Given the description of an element on the screen output the (x, y) to click on. 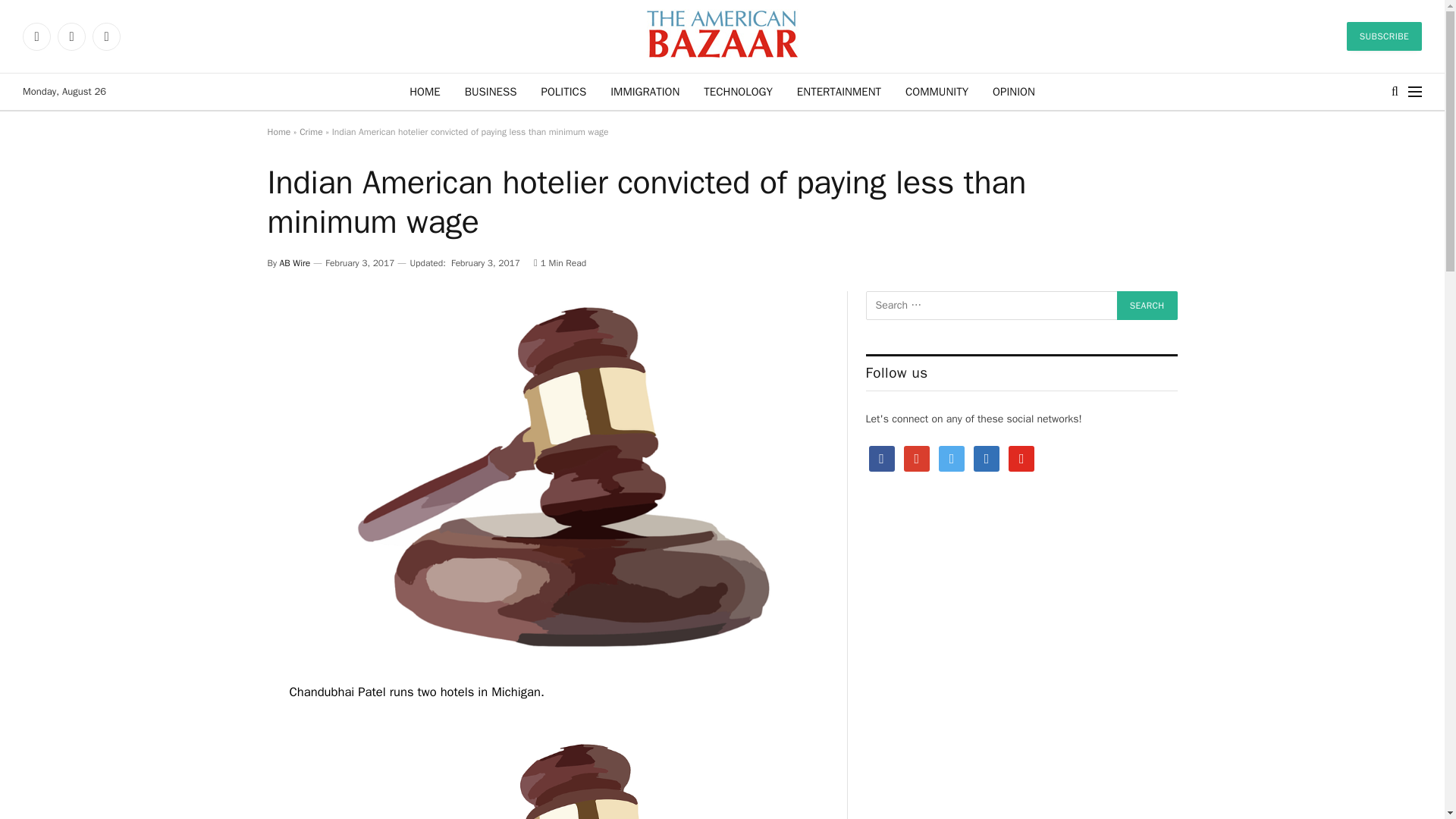
Instagram (106, 36)
Home (277, 132)
POLITICS (563, 91)
Technology (737, 91)
HOME (424, 91)
Crime (310, 132)
OPINION (1012, 91)
Entertainment (838, 91)
AB Wire (295, 263)
The American Bazaar (721, 36)
